Given the description of an element on the screen output the (x, y) to click on. 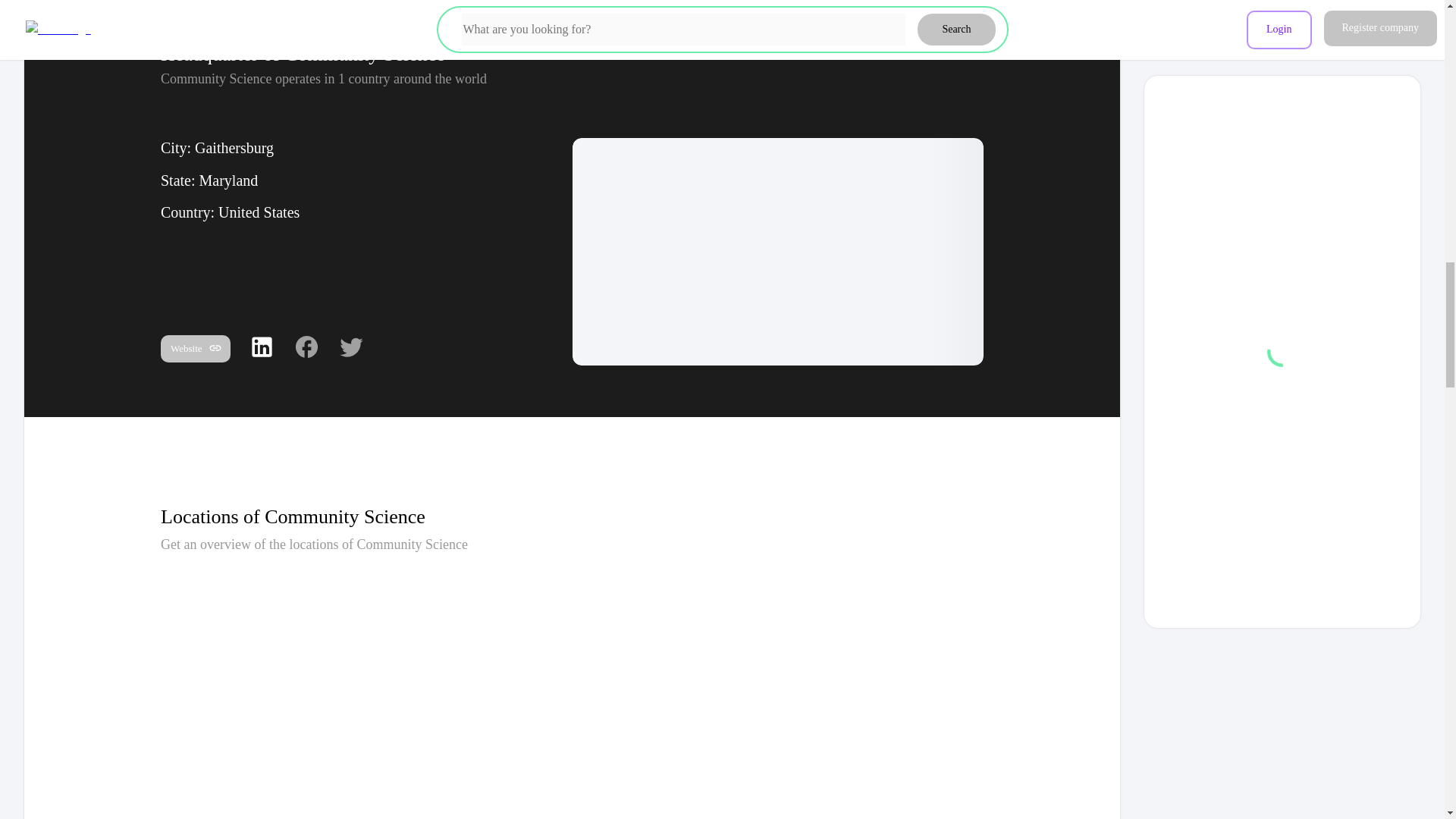
Website (195, 348)
Website (195, 349)
